Given the description of an element on the screen output the (x, y) to click on. 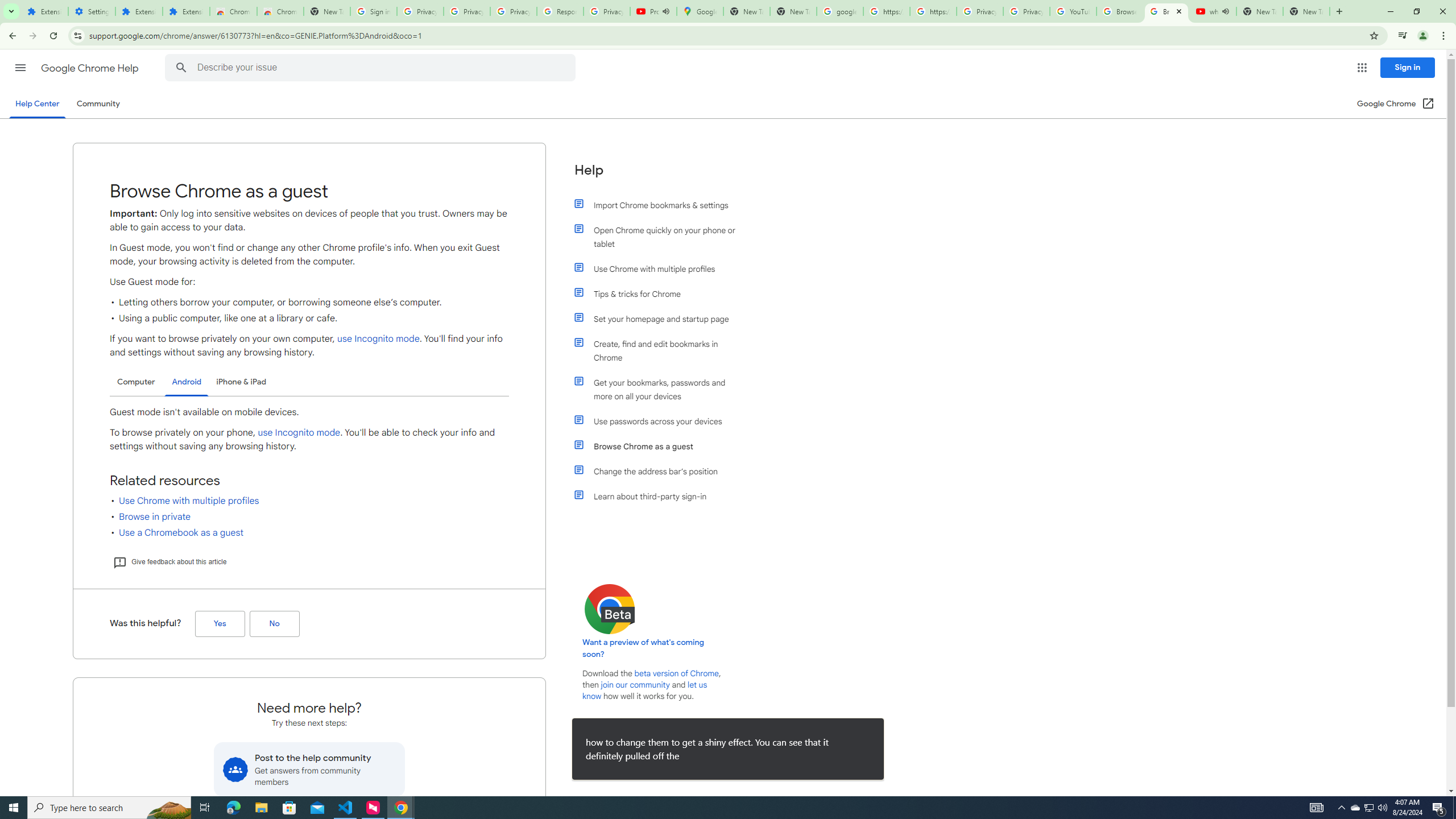
Browse Chrome as a guest - Android - Google Chrome Help (1166, 11)
Help Center (36, 103)
Use Chrome with multiple profiles (661, 268)
Learn about third-party sign-in (661, 496)
Chrome Web Store - Themes (279, 11)
Extensions (44, 11)
